Given the description of an element on the screen output the (x, y) to click on. 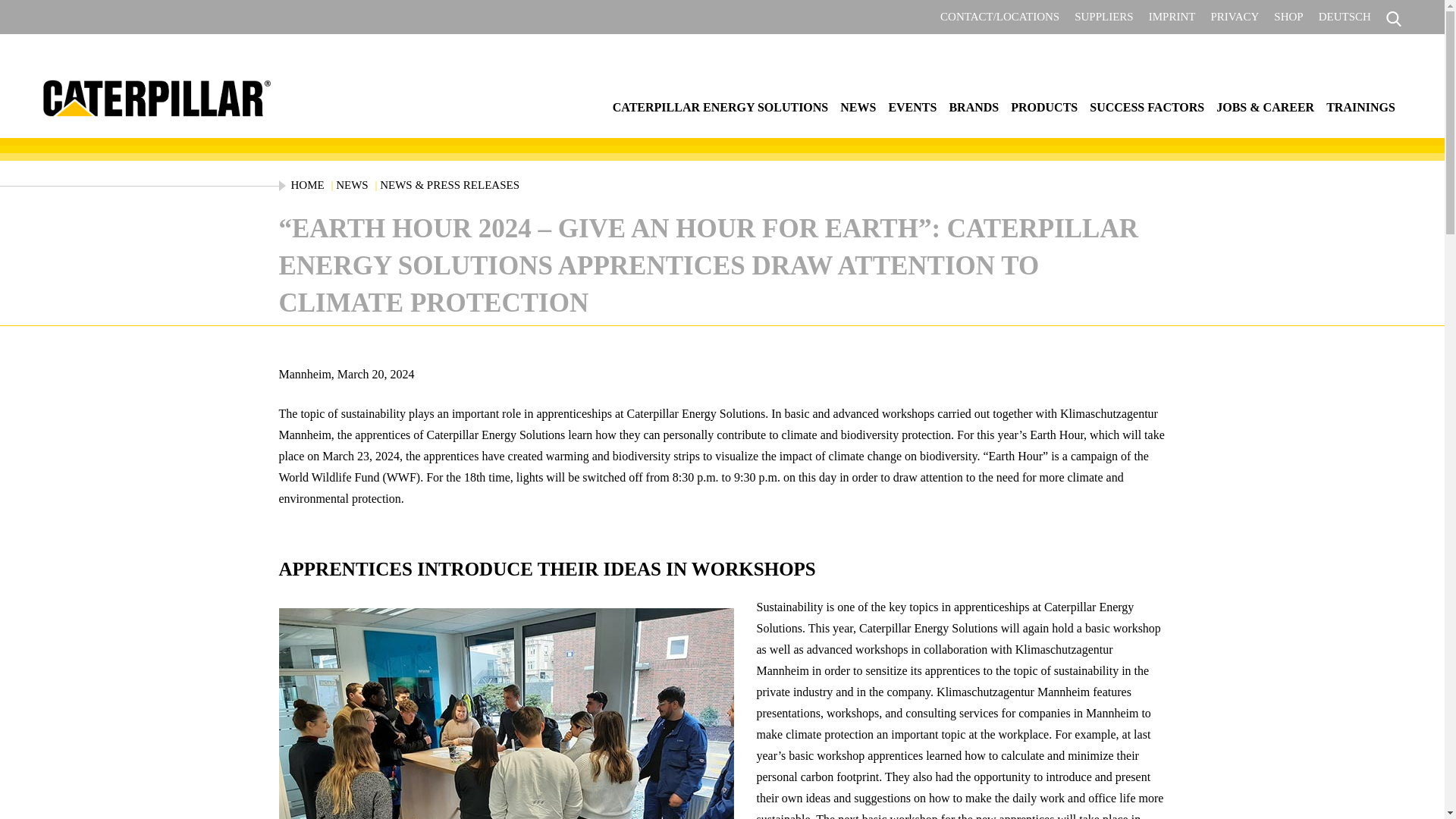
SUPPLIERS (1104, 16)
NEWS (858, 106)
PRIVACY (1234, 16)
SHOP (1288, 16)
BRANDS (973, 106)
PRODUCTS (1043, 106)
Deutsch (1344, 16)
Search (1360, 56)
IMPRINT (1172, 16)
